Given the description of an element on the screen output the (x, y) to click on. 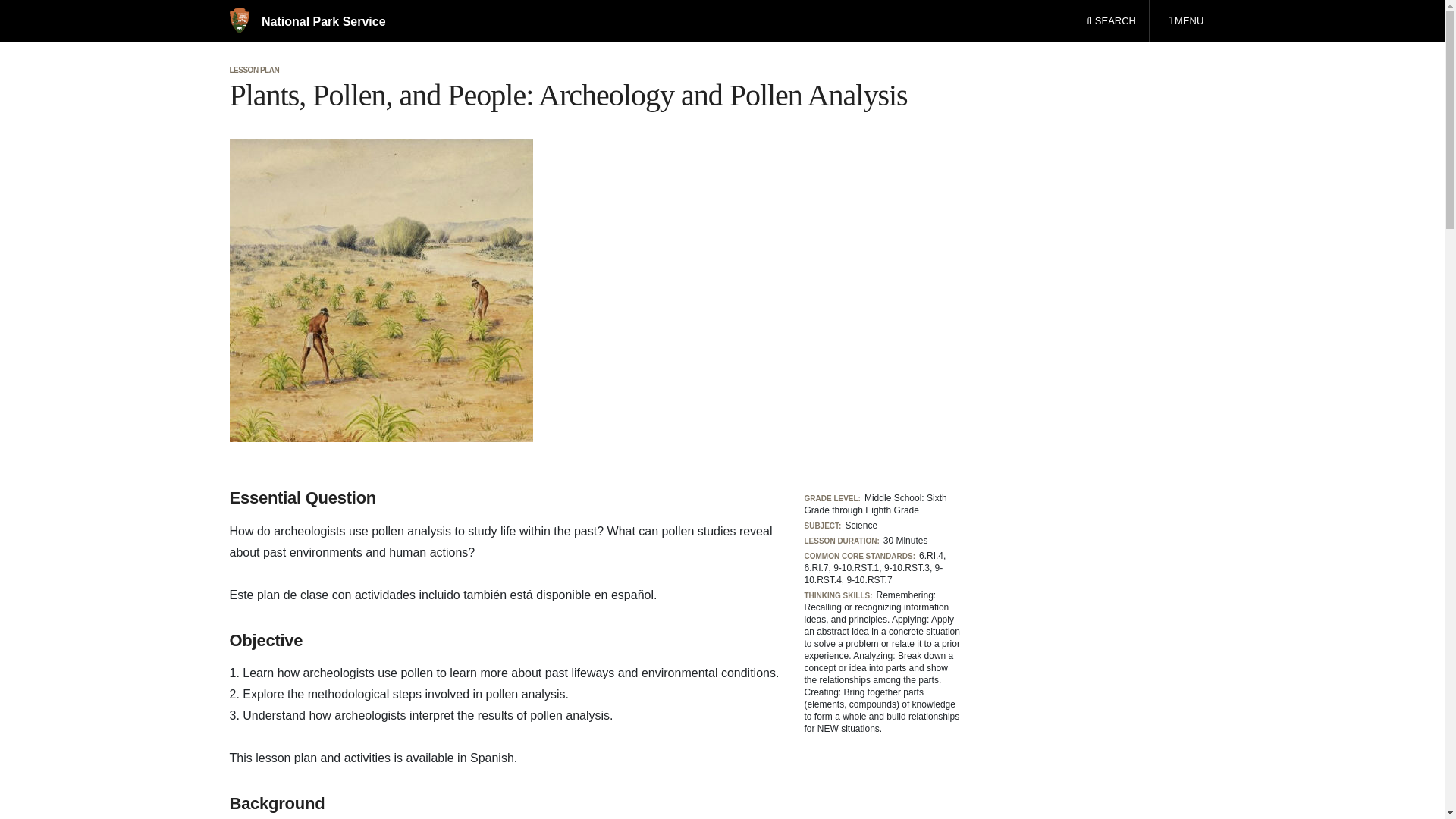
Native Americans hoeing corn.  (1185, 20)
National Park Service (380, 290)
SEARCH (307, 20)
